Given the description of an element on the screen output the (x, y) to click on. 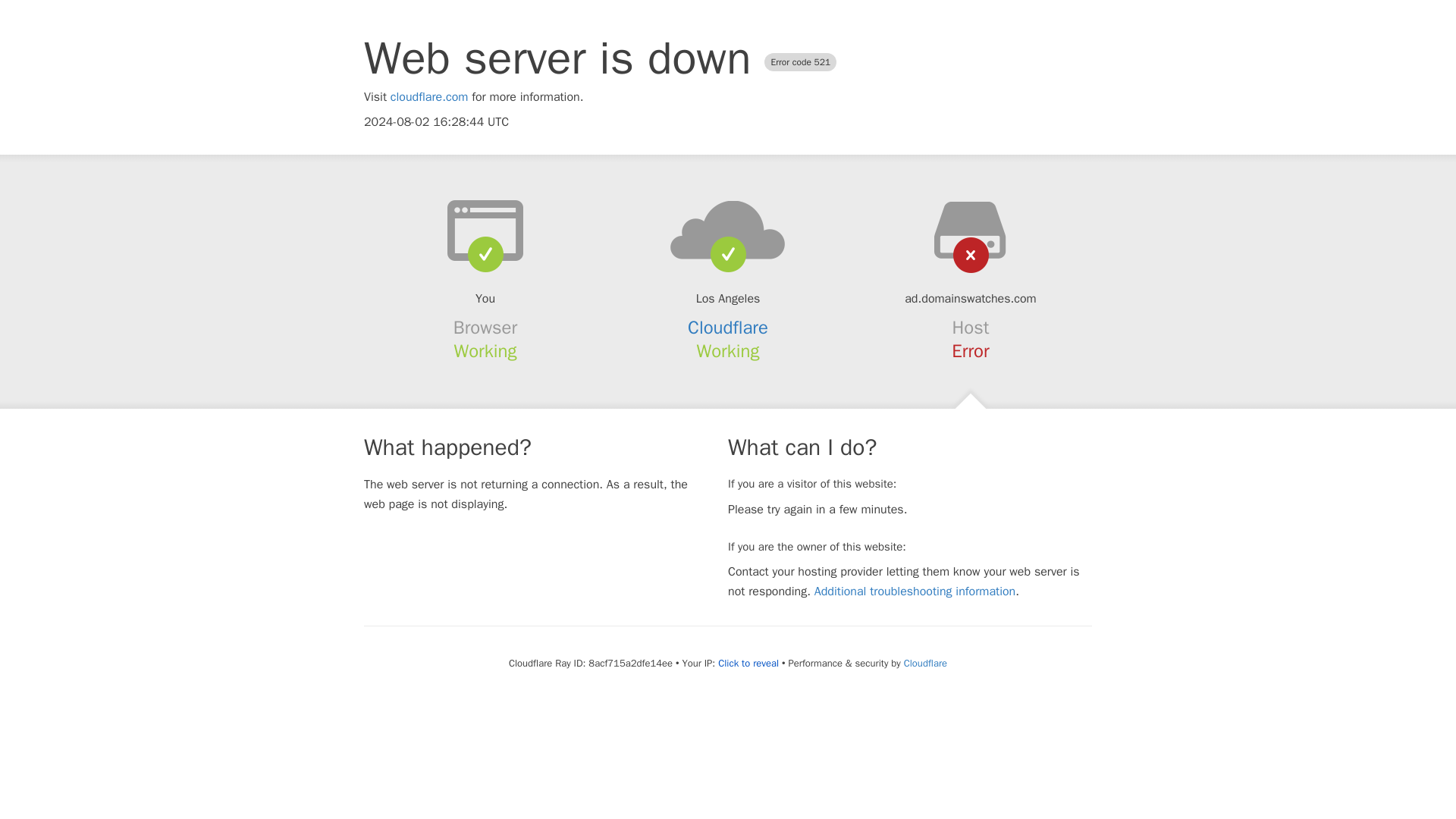
Cloudflare (727, 327)
cloudflare.com (429, 96)
Click to reveal (747, 663)
Cloudflare (925, 662)
Additional troubleshooting information (913, 590)
